Given the description of an element on the screen output the (x, y) to click on. 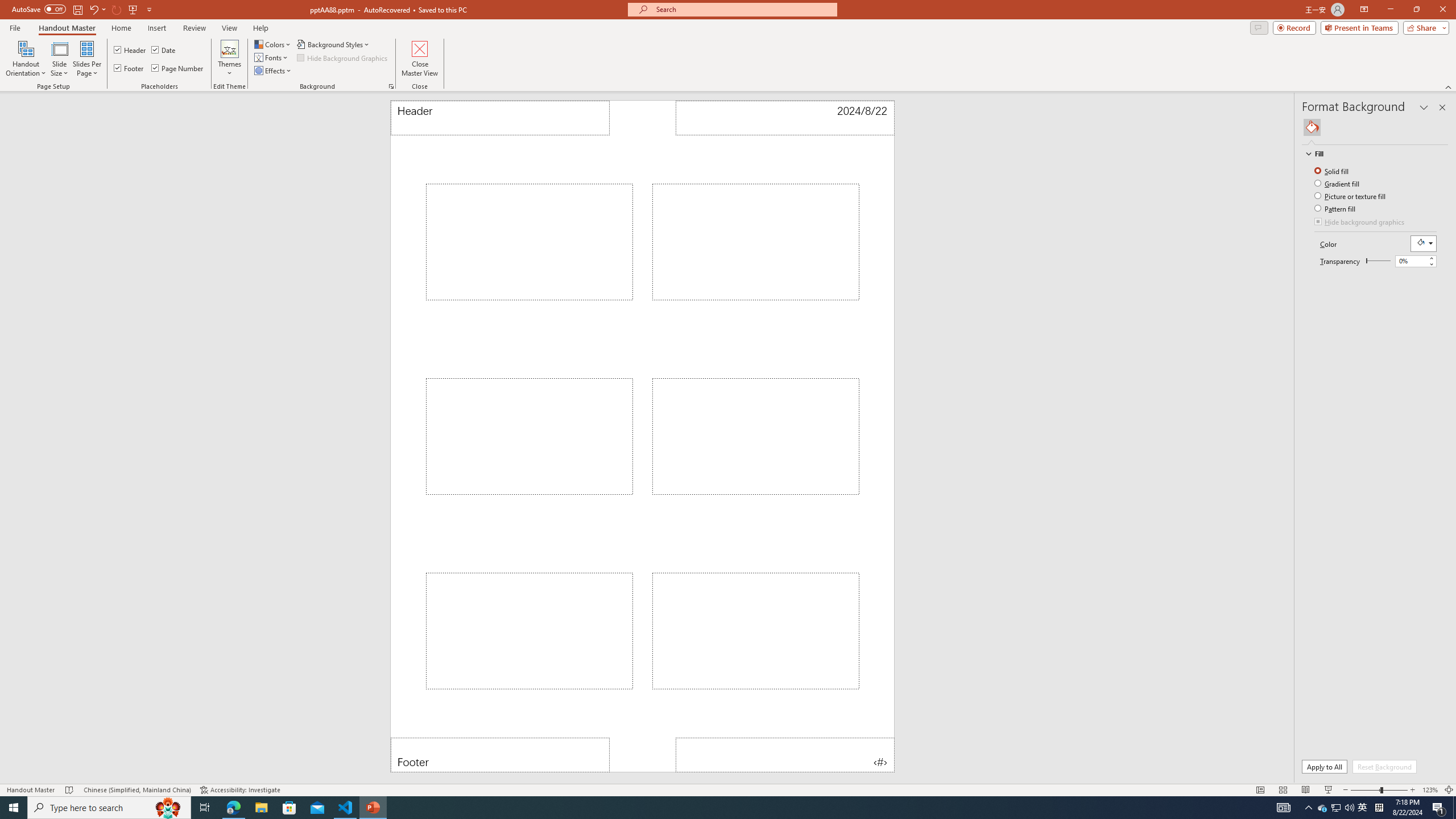
Slide Size (59, 58)
Close Master View (419, 58)
Solid fill (1332, 170)
Footer (500, 754)
Themes (229, 58)
Hide Background Graphics (343, 56)
Fonts (271, 56)
